Given the description of an element on the screen output the (x, y) to click on. 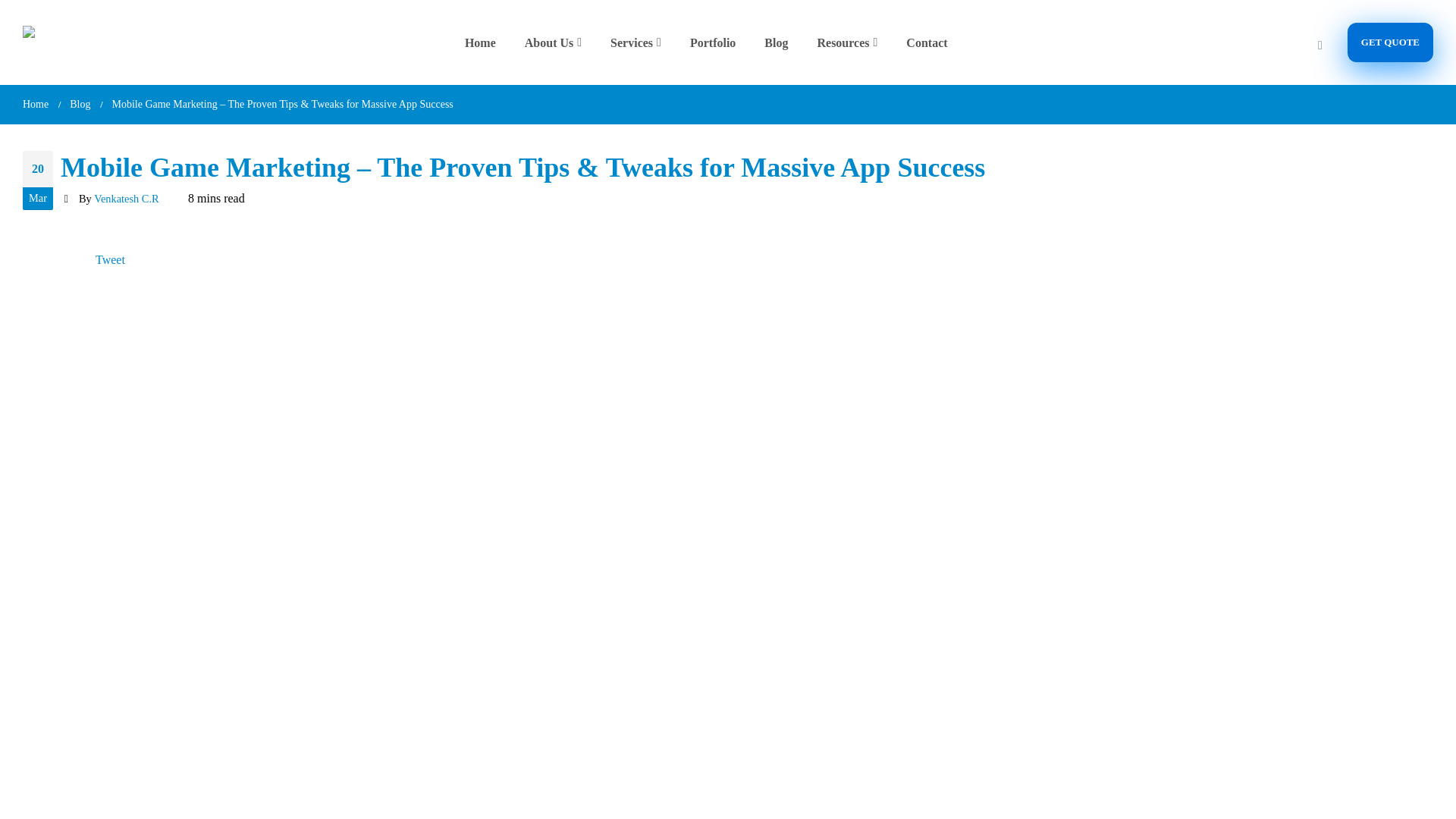
Services (640, 42)
Go to Home Page (35, 104)
About Us (557, 42)
Dot Com Infoway -  (52, 42)
Home (485, 42)
Posts by Venkatesh C.R (126, 198)
